Given the description of an element on the screen output the (x, y) to click on. 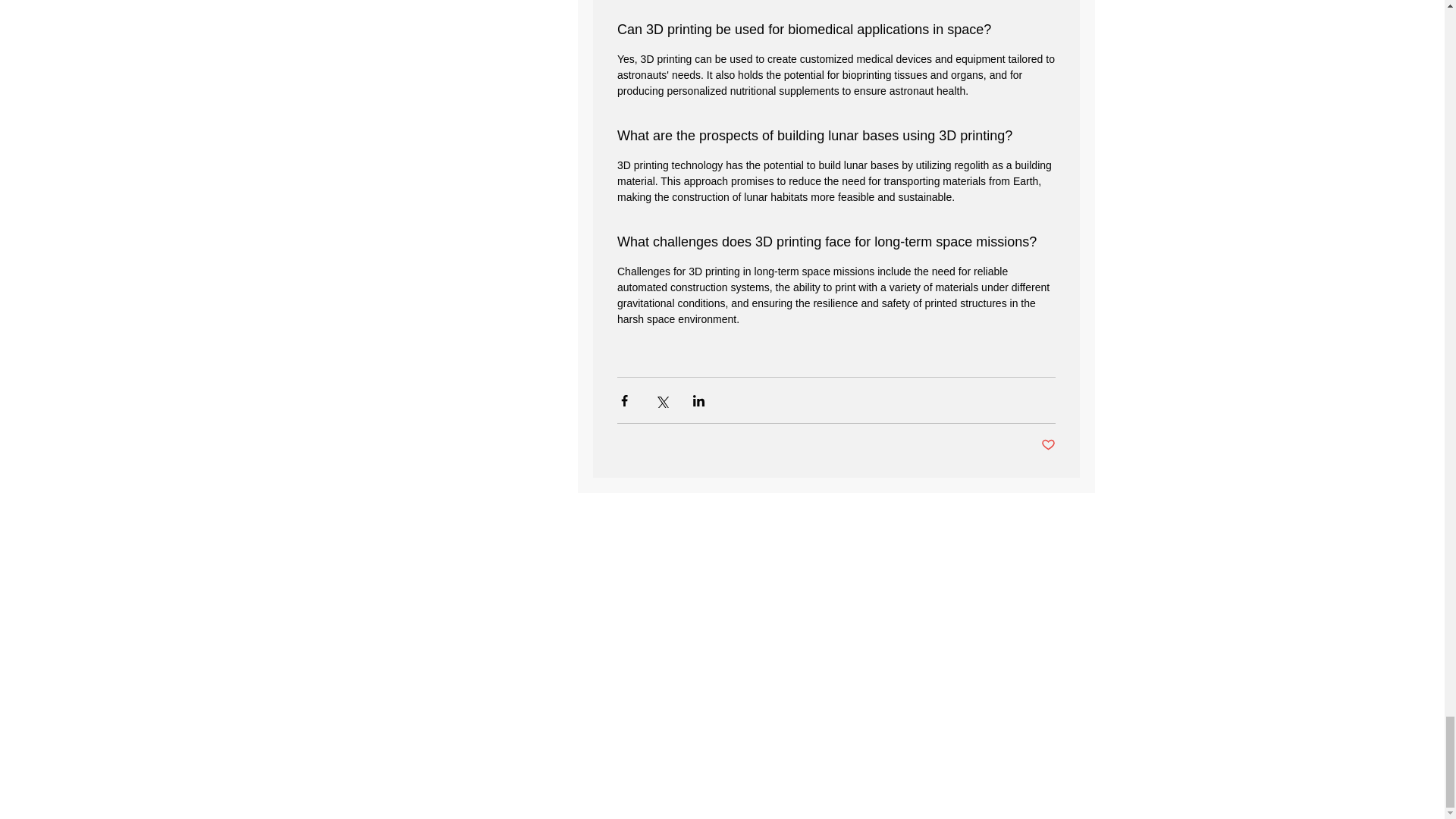
Post not marked as liked (1047, 445)
